Given the description of an element on the screen output the (x, y) to click on. 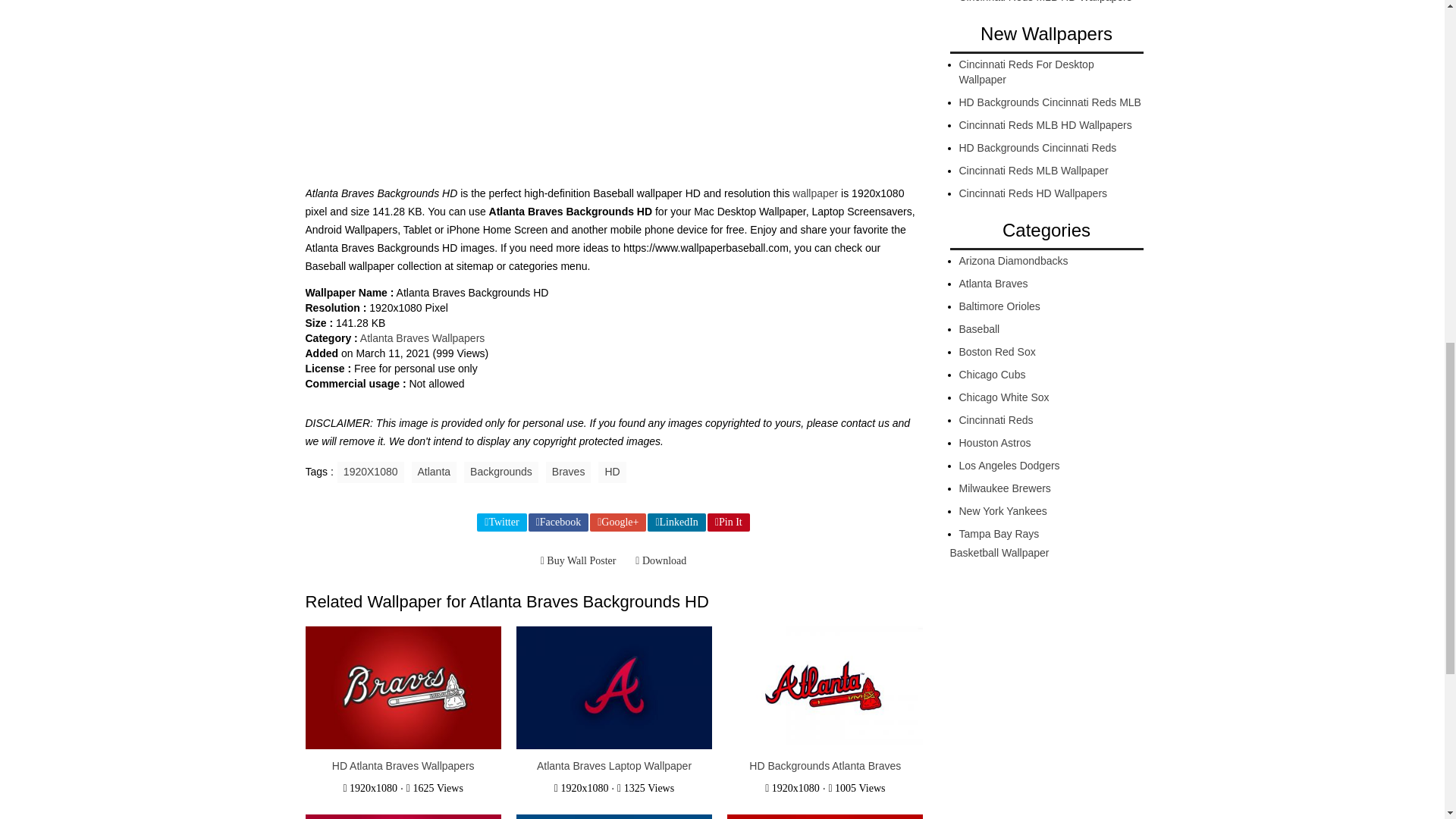
HD (612, 472)
HD Atlanta Braves Wallpapers (402, 766)
HD Backgrounds Atlanta Braves (824, 688)
Backgrounds (501, 472)
Braves (568, 472)
HD Backgrounds Atlanta Braves (825, 766)
Twitter (501, 522)
Buy Wall Poster (578, 561)
Atlanta Braves Wallpapers (421, 337)
Atlanta Braves Laptop Wallpaper (614, 766)
Advertisement (613, 86)
HD Atlanta Braves Wallpapers (402, 766)
HD Atlanta Braves Wallpapers (402, 688)
HD Backgrounds Atlanta Braves (825, 766)
Download (660, 561)
